Given the description of an element on the screen output the (x, y) to click on. 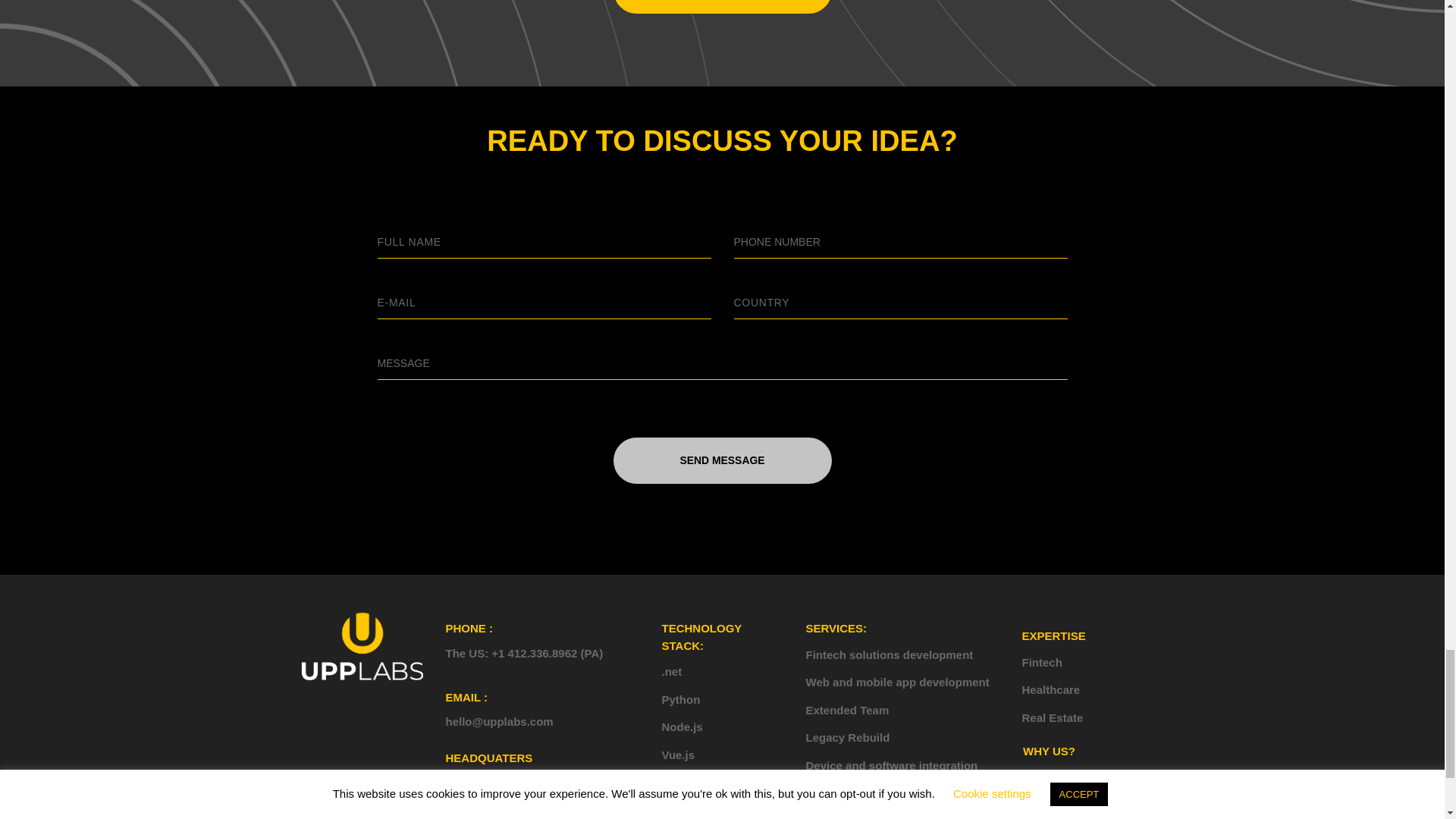
UppLabs LLC Clutch Review Widget 2 Dark (1100, 804)
